Given the description of an element on the screen output the (x, y) to click on. 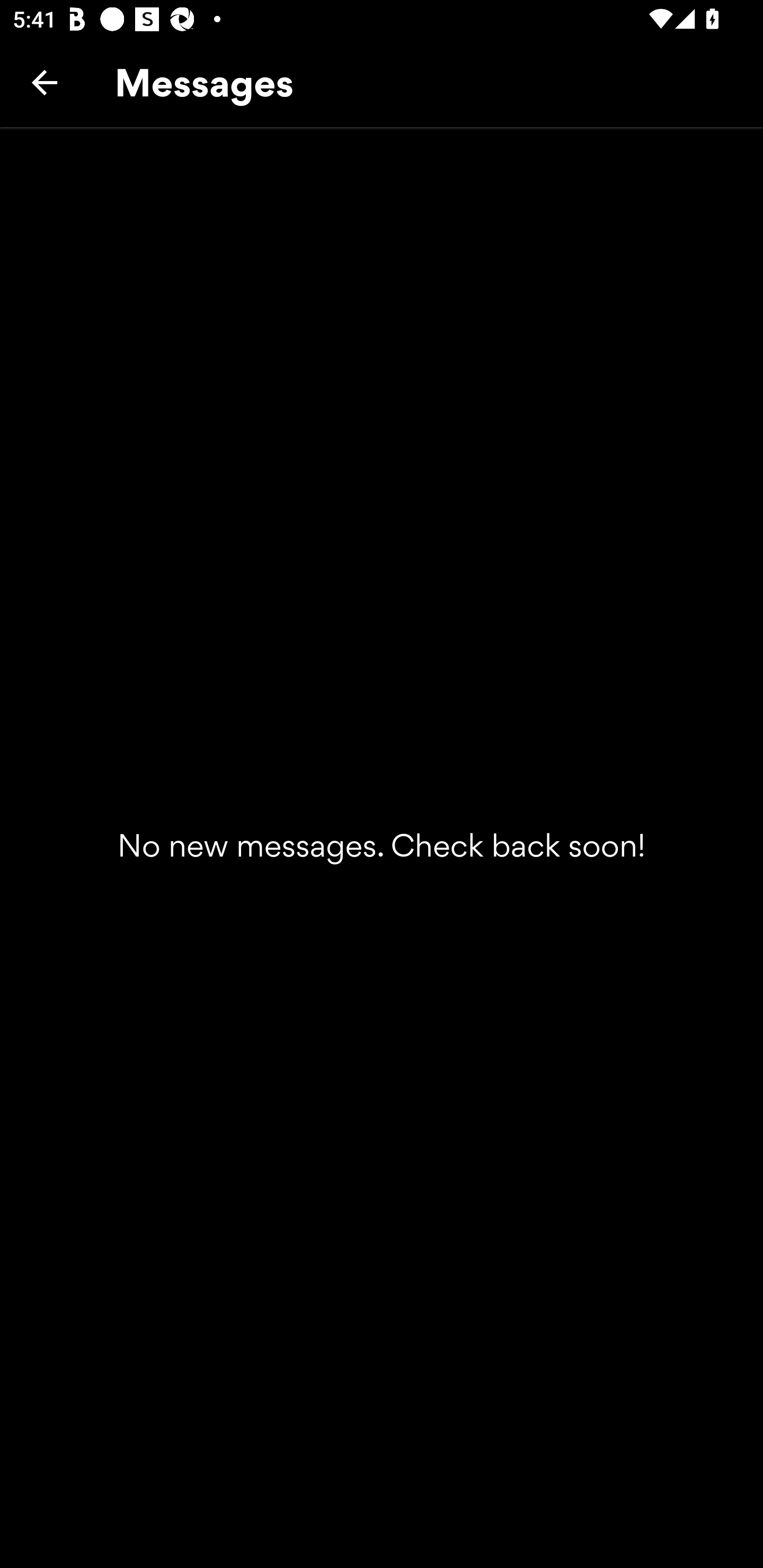
Back (44, 82)
